Given the description of an element on the screen output the (x, y) to click on. 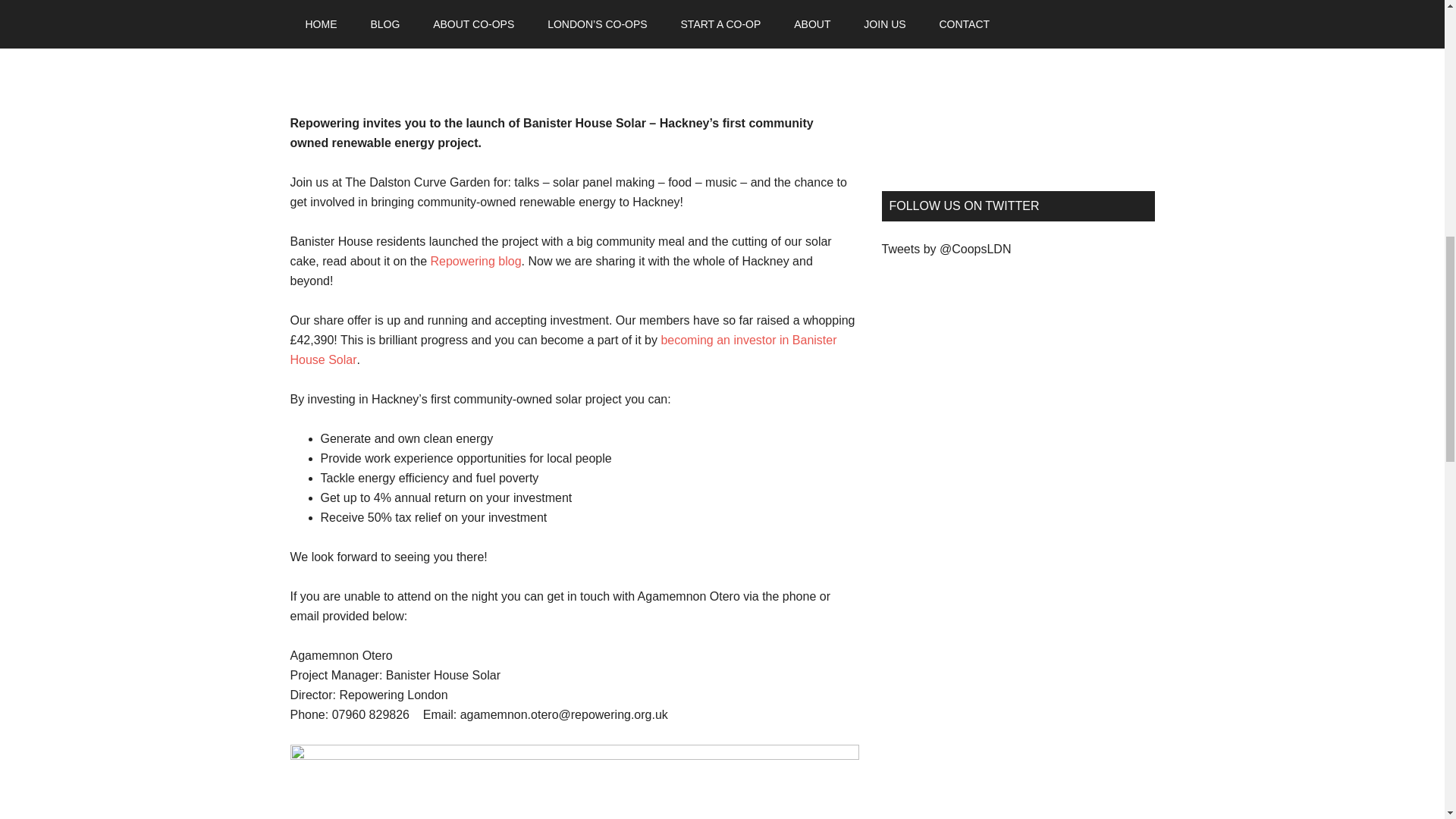
 an investor in Banister House Solar (562, 349)
becoming (687, 339)
Repowering blog (475, 260)
Click here to RSVP (341, 43)
